Given the description of an element on the screen output the (x, y) to click on. 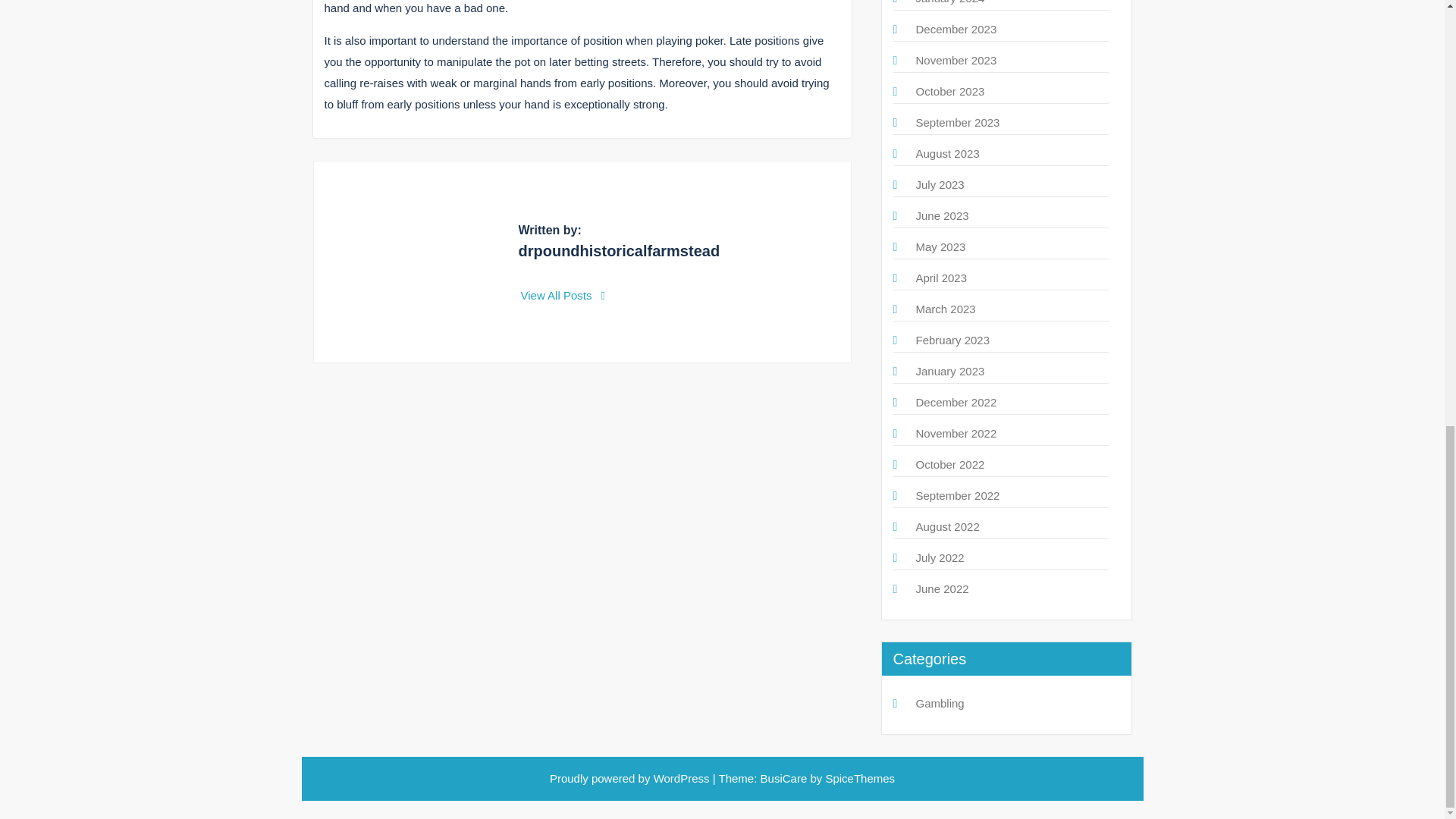
February 2023 (952, 339)
Gambling (939, 703)
August 2022 (947, 526)
December 2023 (956, 29)
August 2023 (947, 153)
January 2024 (950, 2)
April 2023 (941, 277)
December 2022 (956, 401)
July 2022 (939, 557)
View All Posts (562, 295)
September 2023 (957, 122)
October 2022 (950, 463)
May 2023 (940, 246)
October 2023 (950, 91)
March 2023 (945, 308)
